Given the description of an element on the screen output the (x, y) to click on. 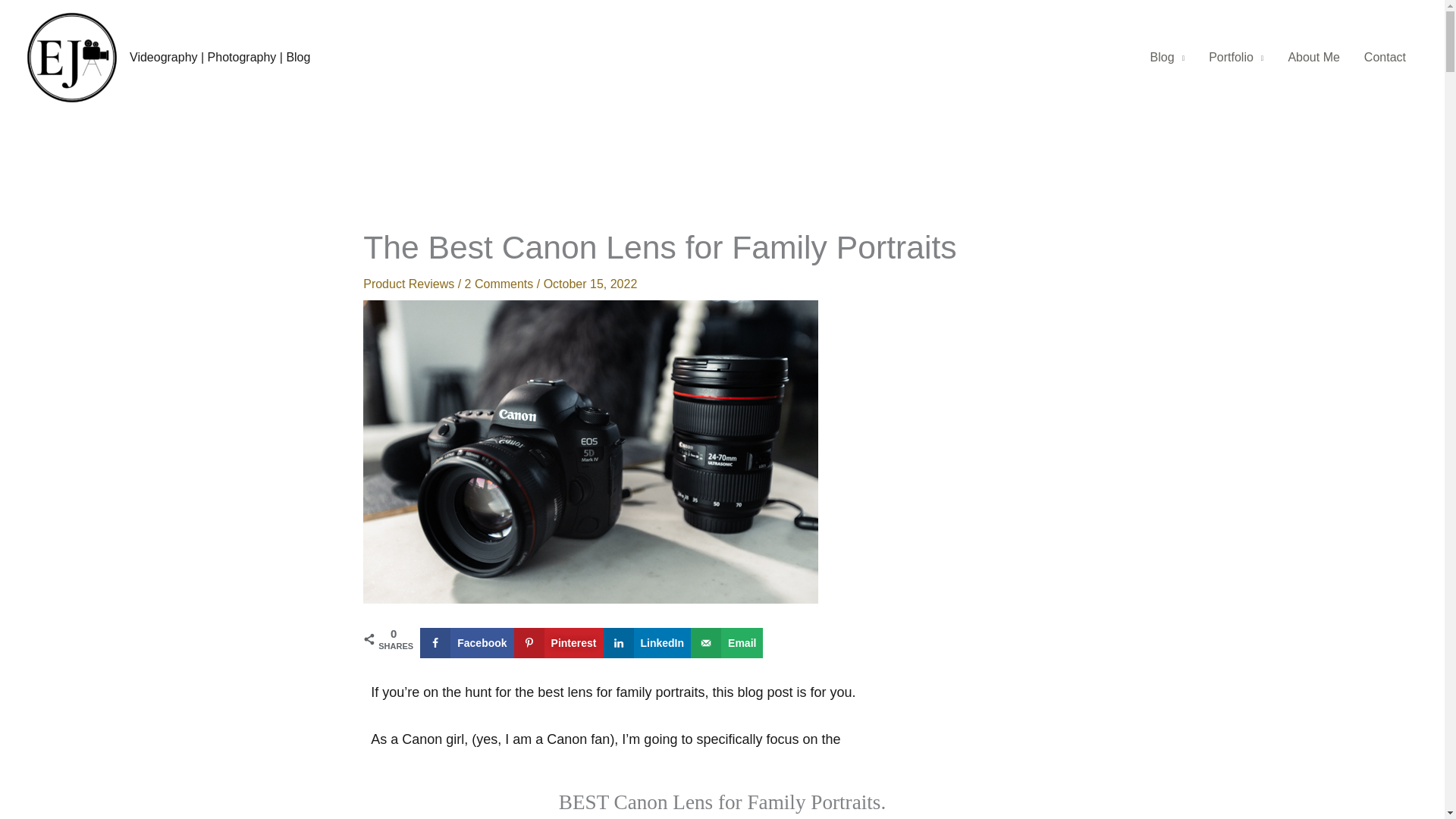
2 Comments (499, 283)
Portfolio (1235, 57)
Contact (1385, 57)
Product Reviews (408, 283)
Blog (1167, 57)
About Me (1313, 57)
Facebook (466, 643)
Pinterest (558, 643)
LinkedIn (647, 643)
Email (726, 643)
